Given the description of an element on the screen output the (x, y) to click on. 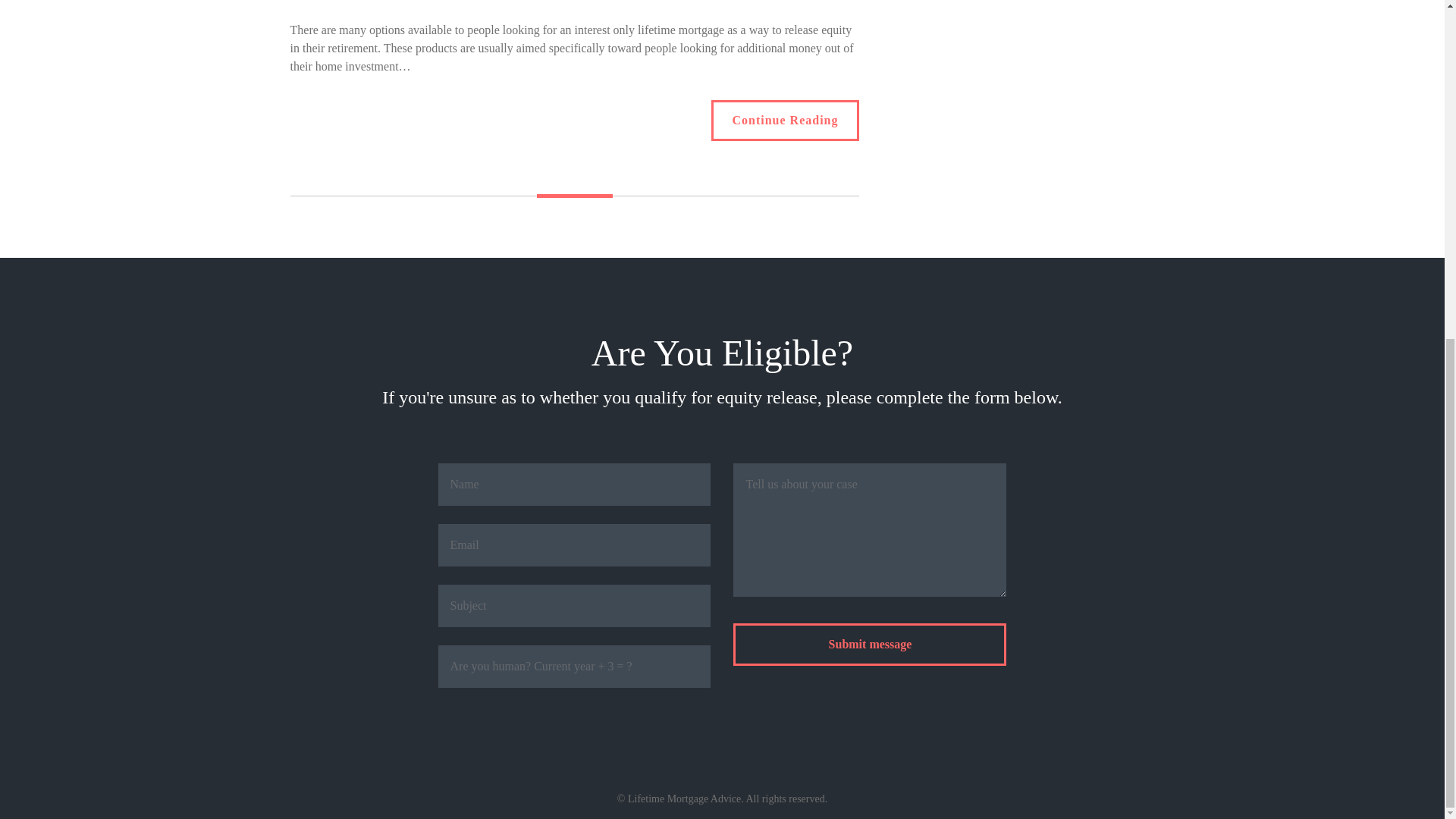
Continue Reading (785, 119)
Submit message (869, 72)
Submit message (869, 72)
